Given the description of an element on the screen output the (x, y) to click on. 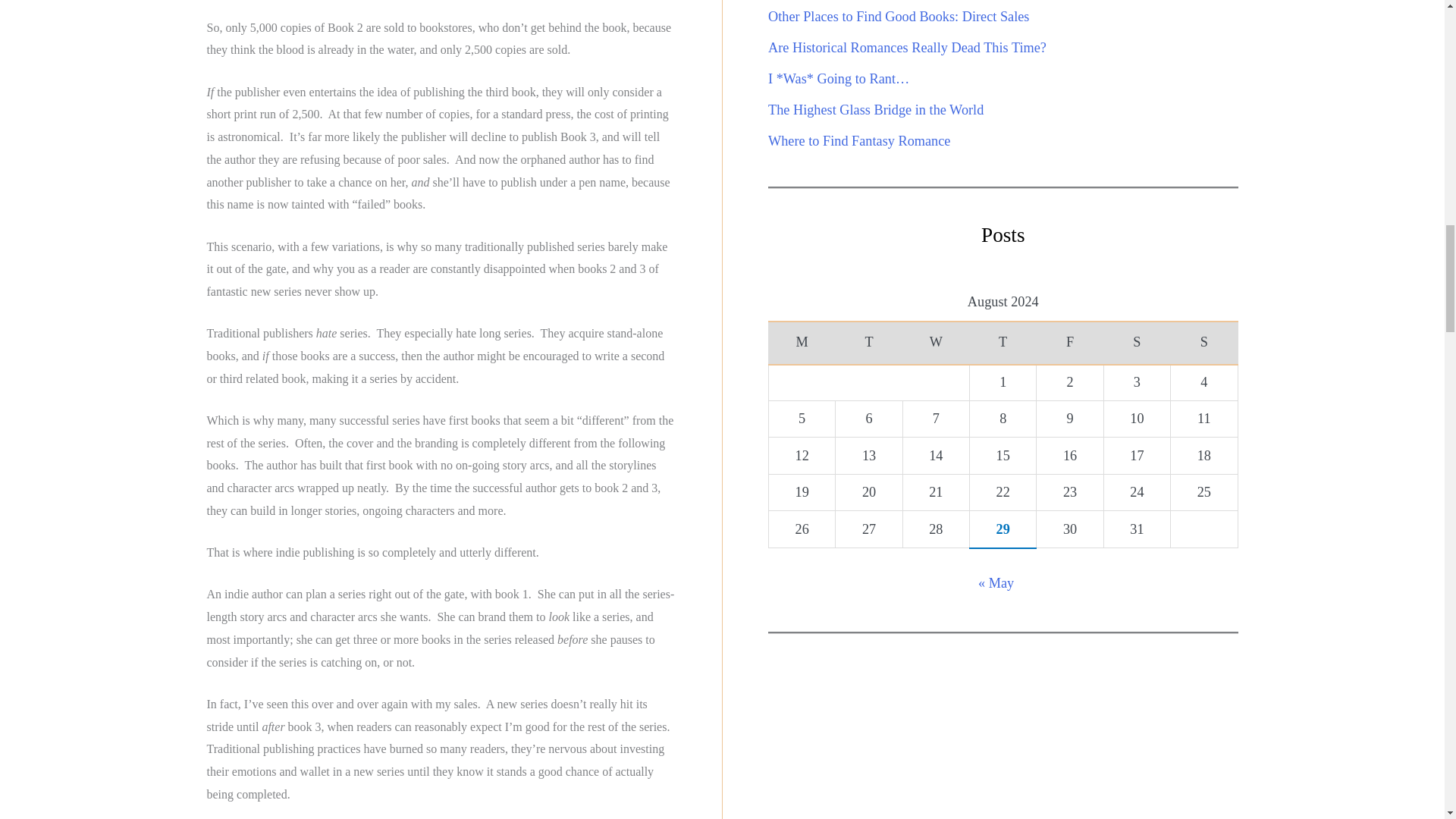
Sunday (1203, 342)
Monday (801, 342)
Saturday (1136, 342)
Thursday (1002, 342)
Friday (1069, 342)
Tuesday (868, 342)
Wednesday (935, 342)
